Given the description of an element on the screen output the (x, y) to click on. 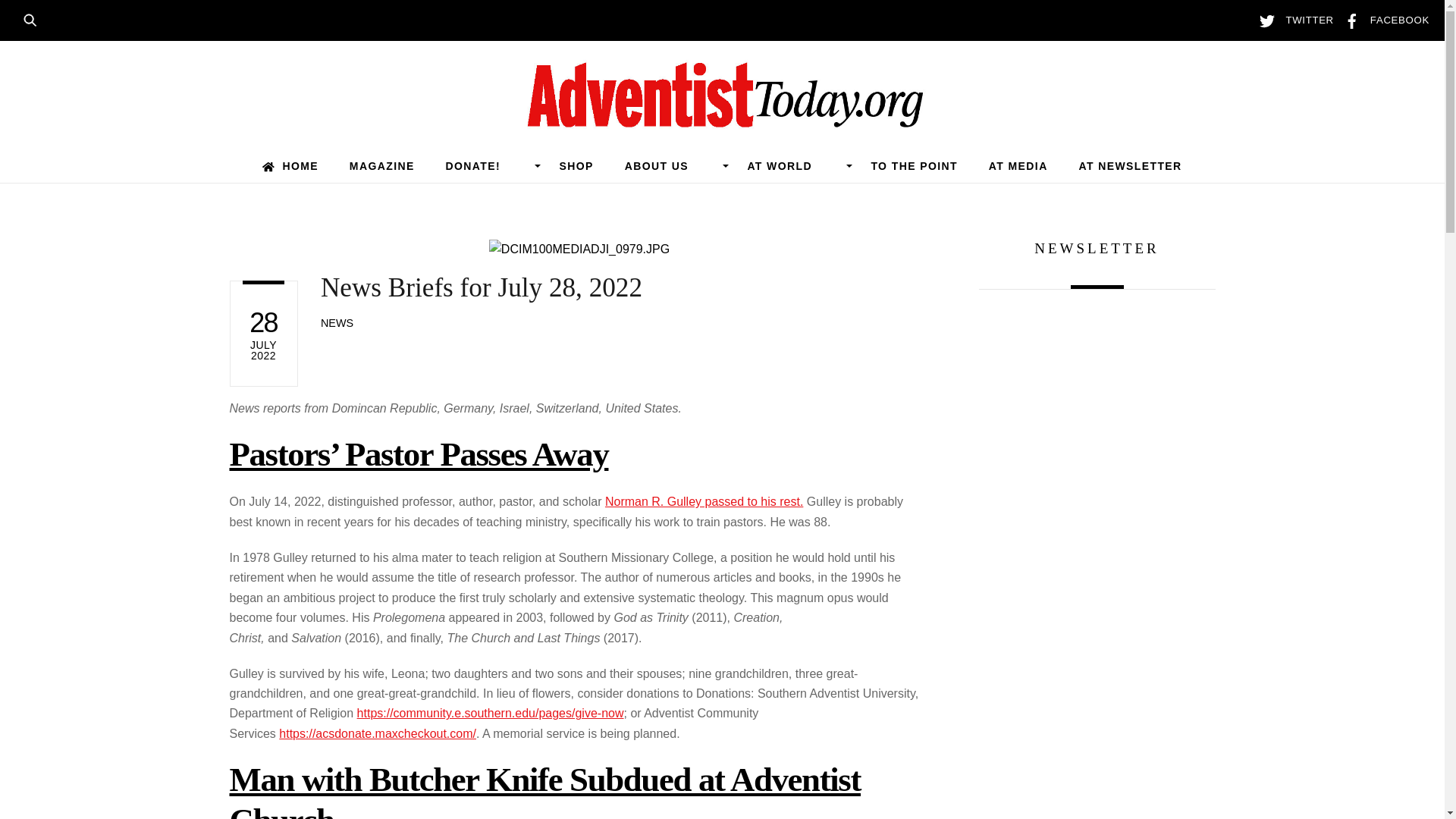
Search (35, 18)
AT NEWSLETTER (1129, 165)
SHOP (576, 165)
Adventist Today (722, 119)
ABOUT US (669, 165)
AT WORLD (793, 165)
MAGAZINE (381, 165)
AT MEDIA (1017, 165)
News Briefs for July 28, 2022 (481, 287)
